Given the description of an element on the screen output the (x, y) to click on. 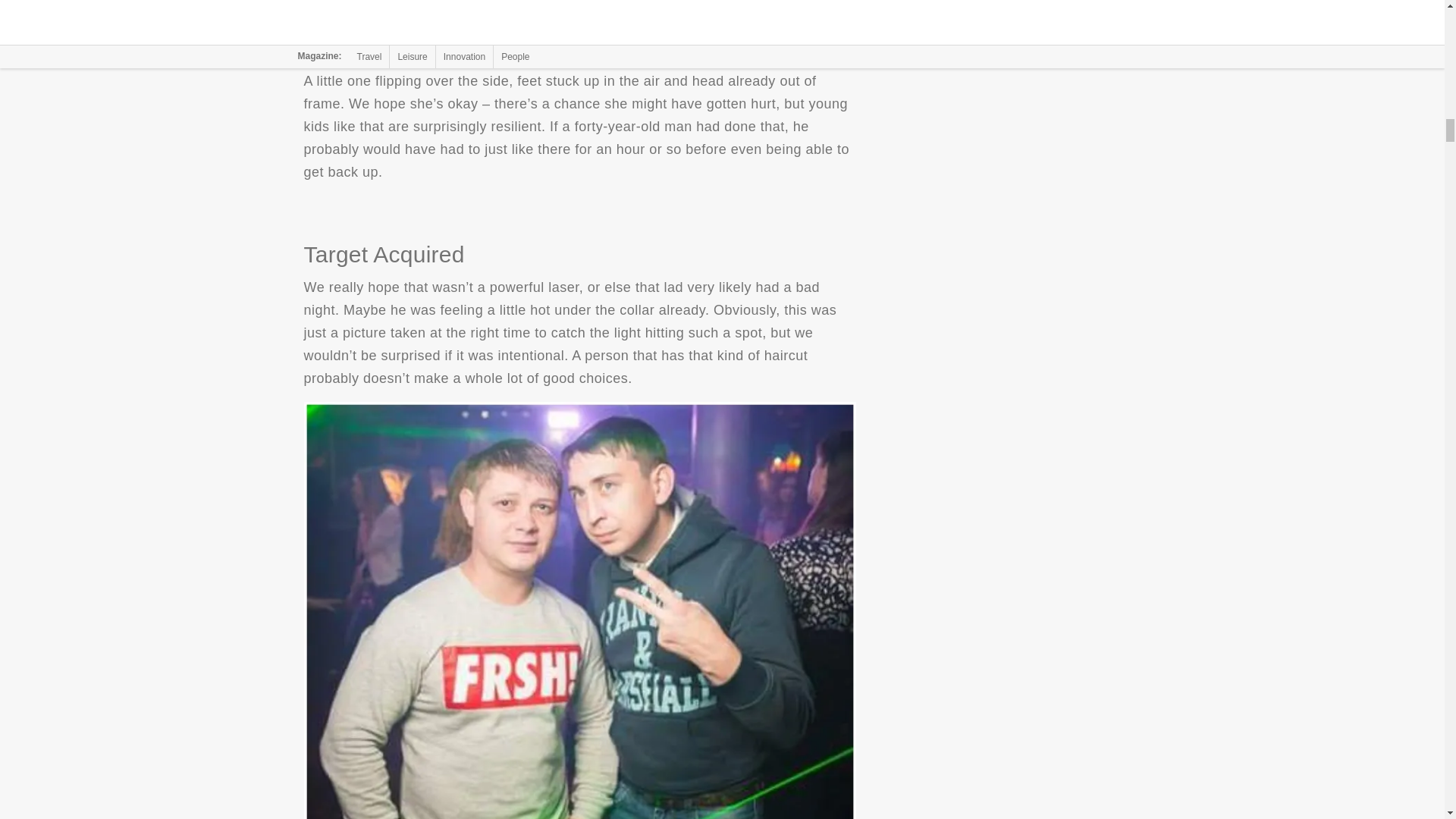
The Last Time They Ever Saw Her (579, 21)
